Given the description of an element on the screen output the (x, y) to click on. 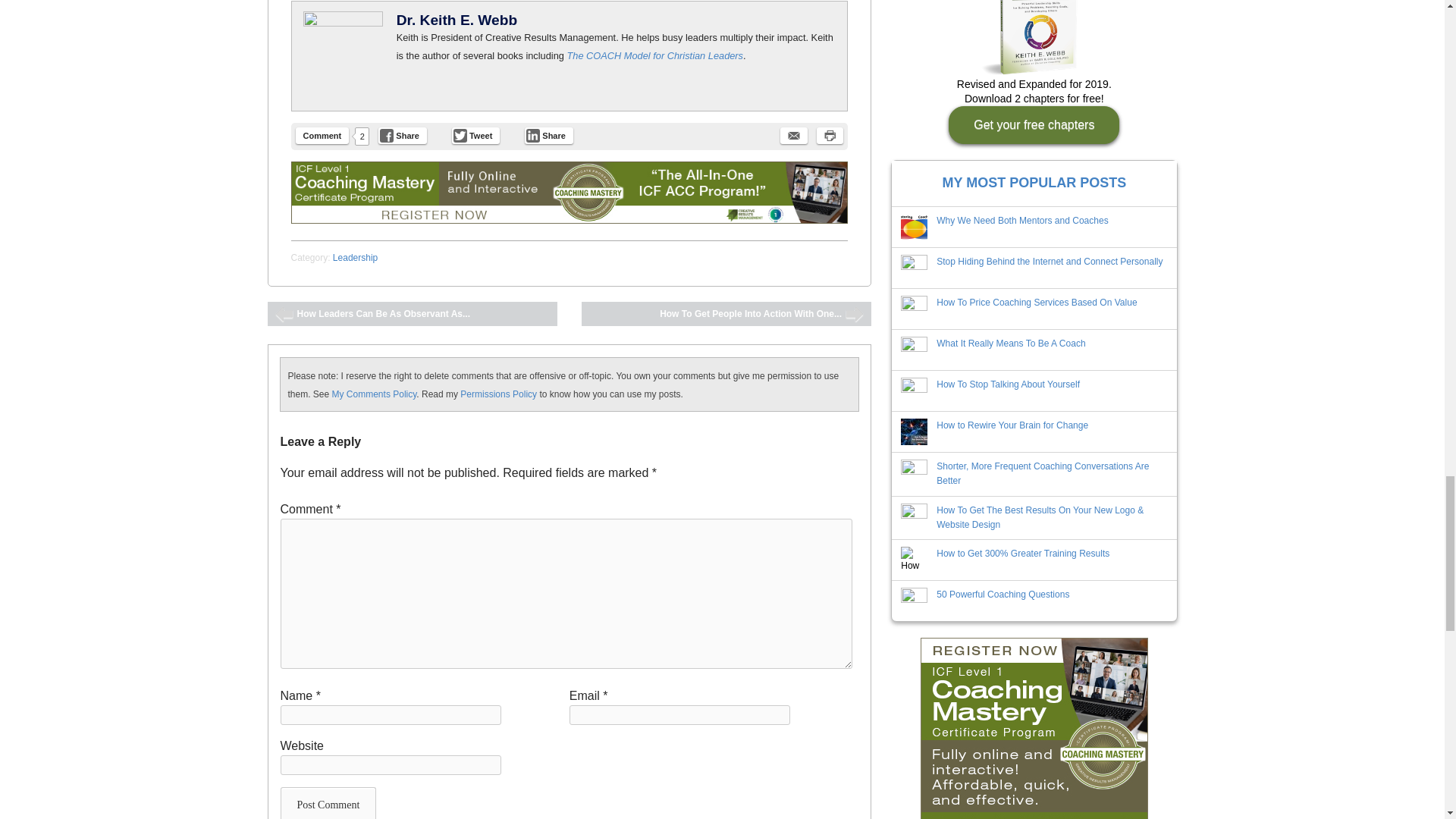
View all posts by Dr. Keith E. Webb (457, 19)
Post Comment (329, 803)
The COACH Model for Christian Leaders (654, 55)
Comment on this Post (322, 135)
Comment (322, 135)
Dr. Keith E. Webb (457, 19)
Share on Facebook (402, 135)
